Given the description of an element on the screen output the (x, y) to click on. 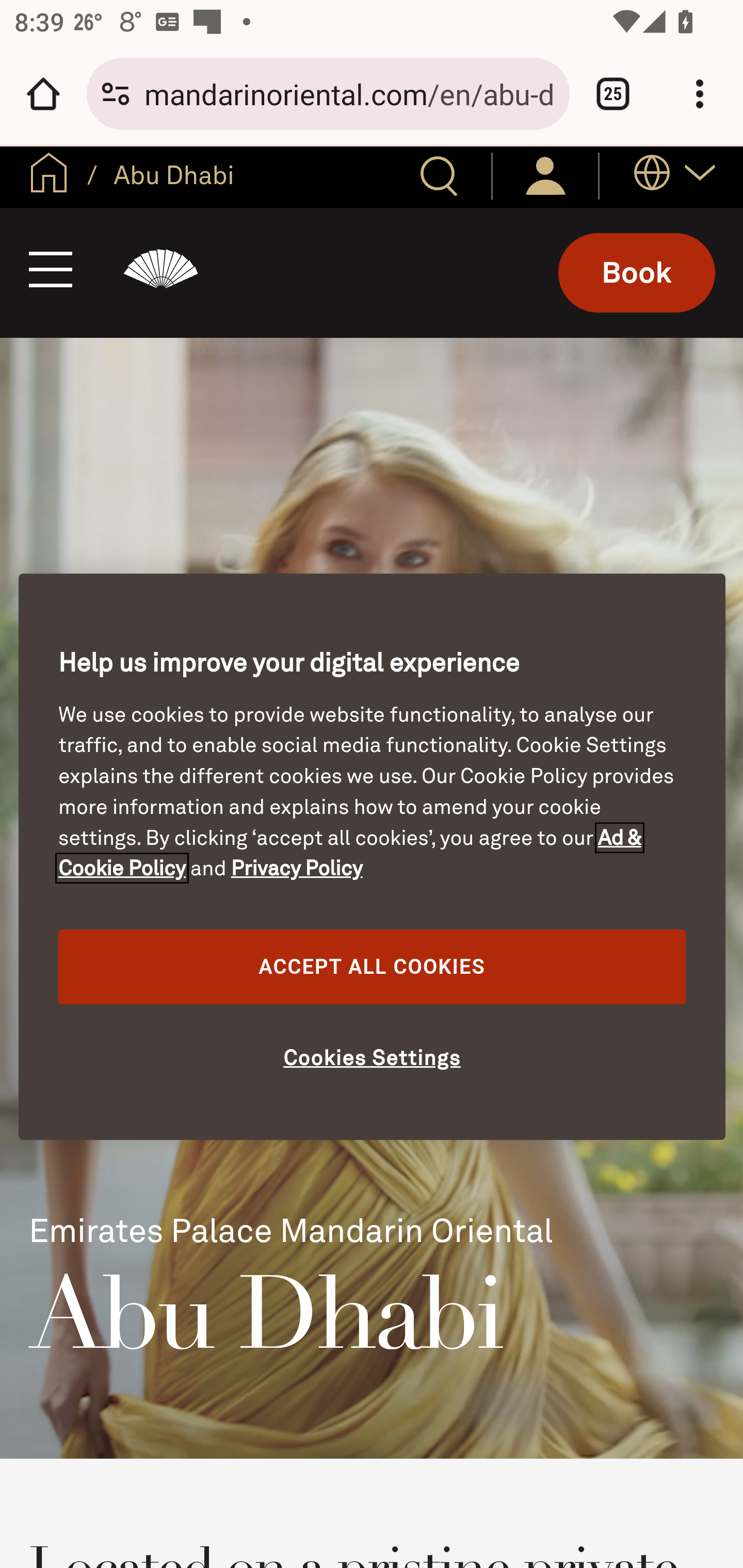
Open the home page (43, 93)
Connection is secure (115, 93)
Switch or close tabs (612, 93)
Customize and control Google Chrome (699, 93)
mandarinoriental.com/en/abu-dhabi/emirates-palace (349, 92)
en (48, 176)
login (544, 175)
 Abu Dhabi (170, 174)
Open Sidebar (50, 271)
Book (636, 271)
Abu Dhabi (161, 272)
Ad & Cookie Policy (349, 852)
Privacy Policy (295, 869)
ACCEPT ALL COOKIES (371, 966)
Cookies Settings (371, 1059)
